Given the description of an element on the screen output the (x, y) to click on. 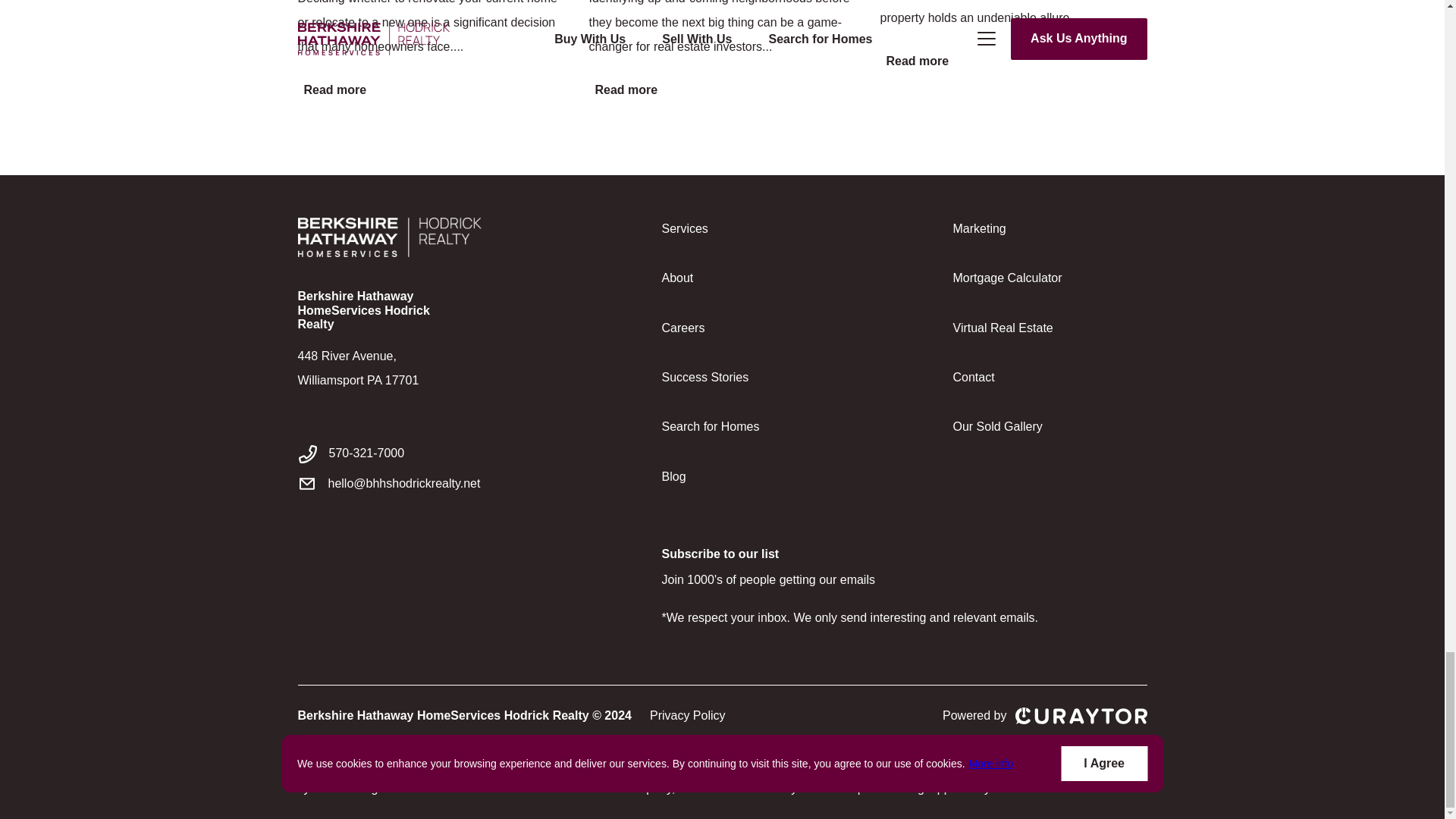
Read more (331, 90)
Read more (914, 61)
Read more (623, 90)
570-321-7000 (430, 453)
